Given the description of an element on the screen output the (x, y) to click on. 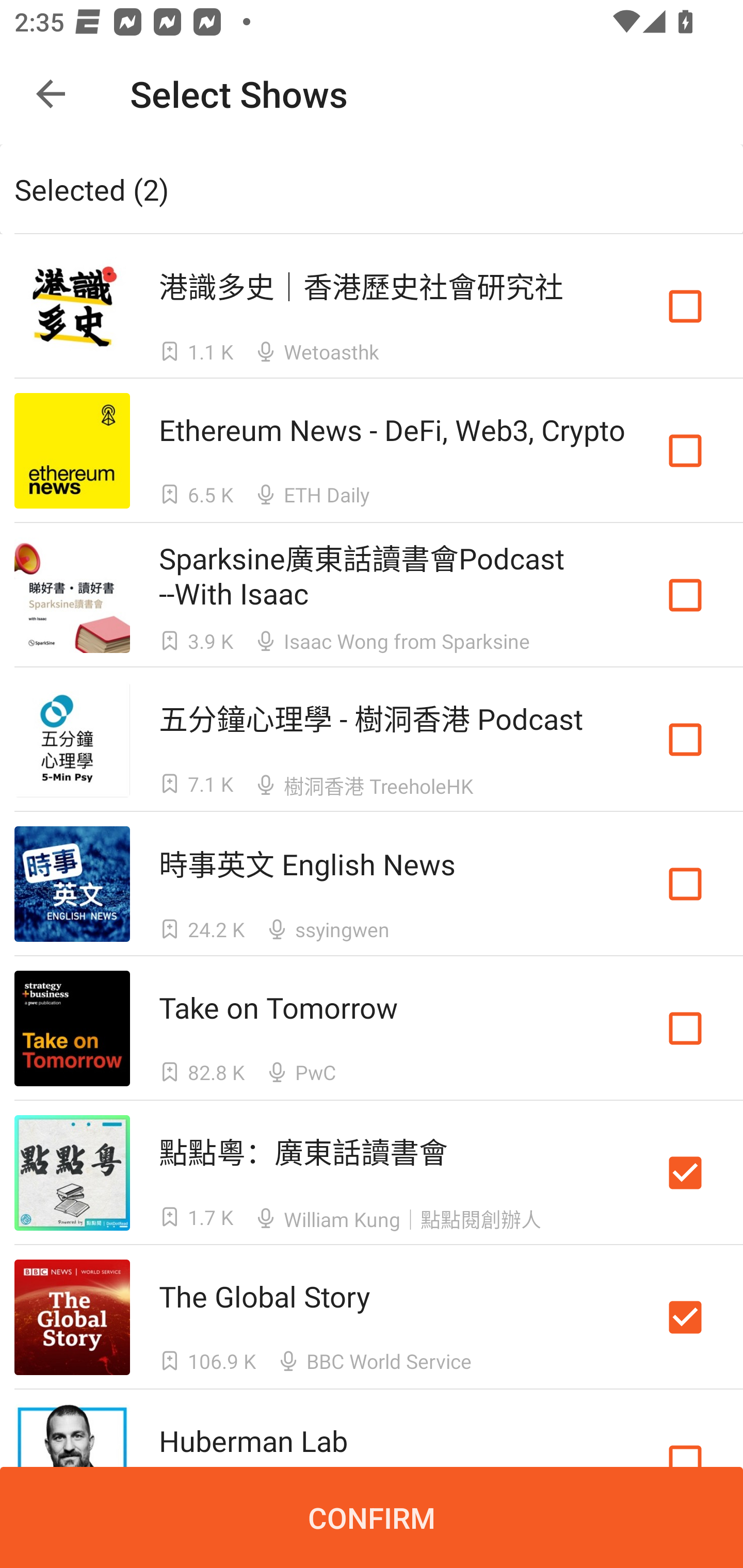
Navigate up (50, 93)
港識多史｜香港歷史社會研究社 港識多史｜香港歷史社會研究社  1.1 K  Wetoasthk (371, 305)
Take on Tomorrow Take on Tomorrow  82.8 K  PwC (371, 1028)
CONFIRM (371, 1517)
